Given the description of an element on the screen output the (x, y) to click on. 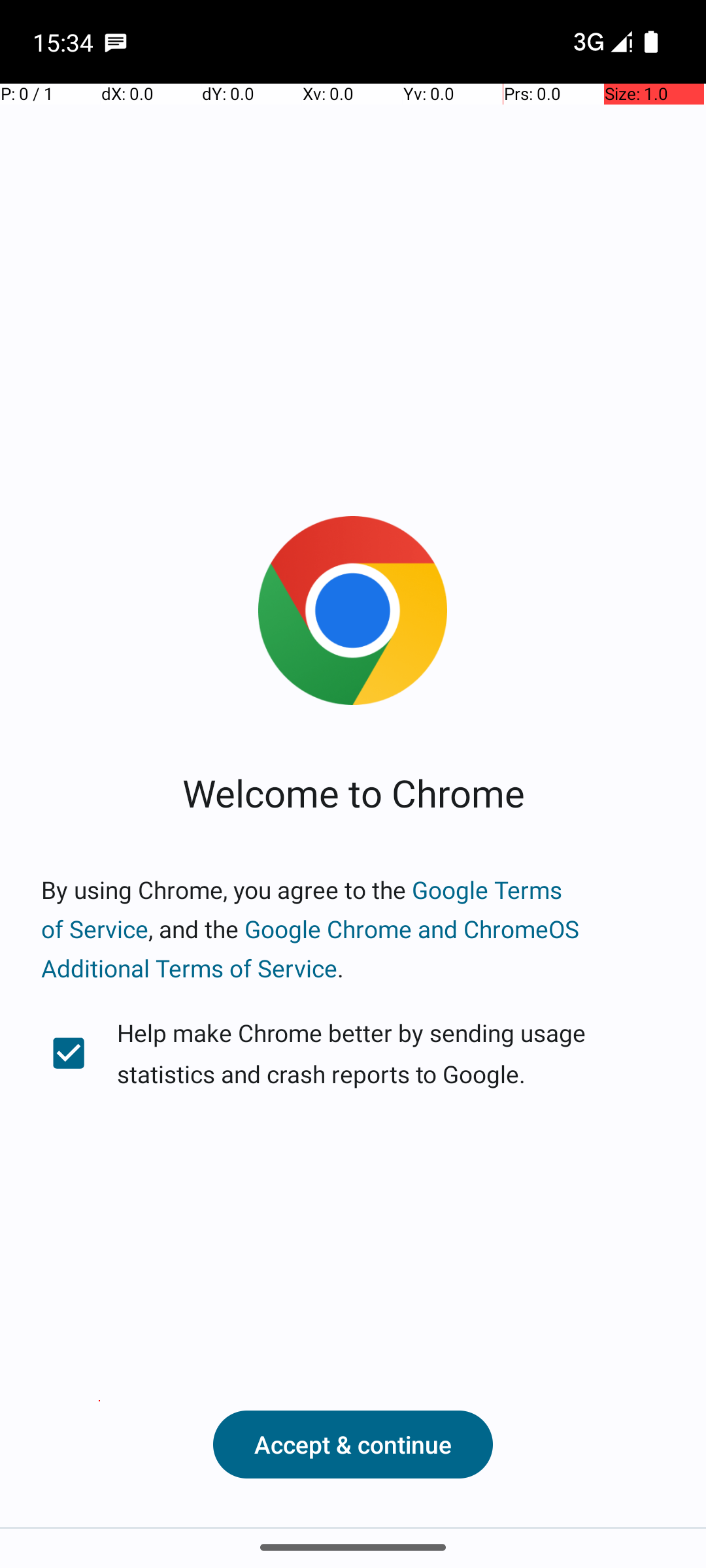
Accept & continue Element type: android.widget.Button (352, 1444)
Welcome to Chrome Element type: android.widget.TextView (352, 792)
By using Chrome, you agree to the Google Terms of Service, and the Google Chrome and ChromeOS Additional Terms of Service. Element type: android.widget.TextView (352, 928)
Help make Chrome better by sending usage statistics and crash reports to Google. Element type: android.widget.CheckBox (352, 1053)
SMS Messenger notification: +10214033213 Element type: android.widget.ImageView (115, 41)
